Given the description of an element on the screen output the (x, y) to click on. 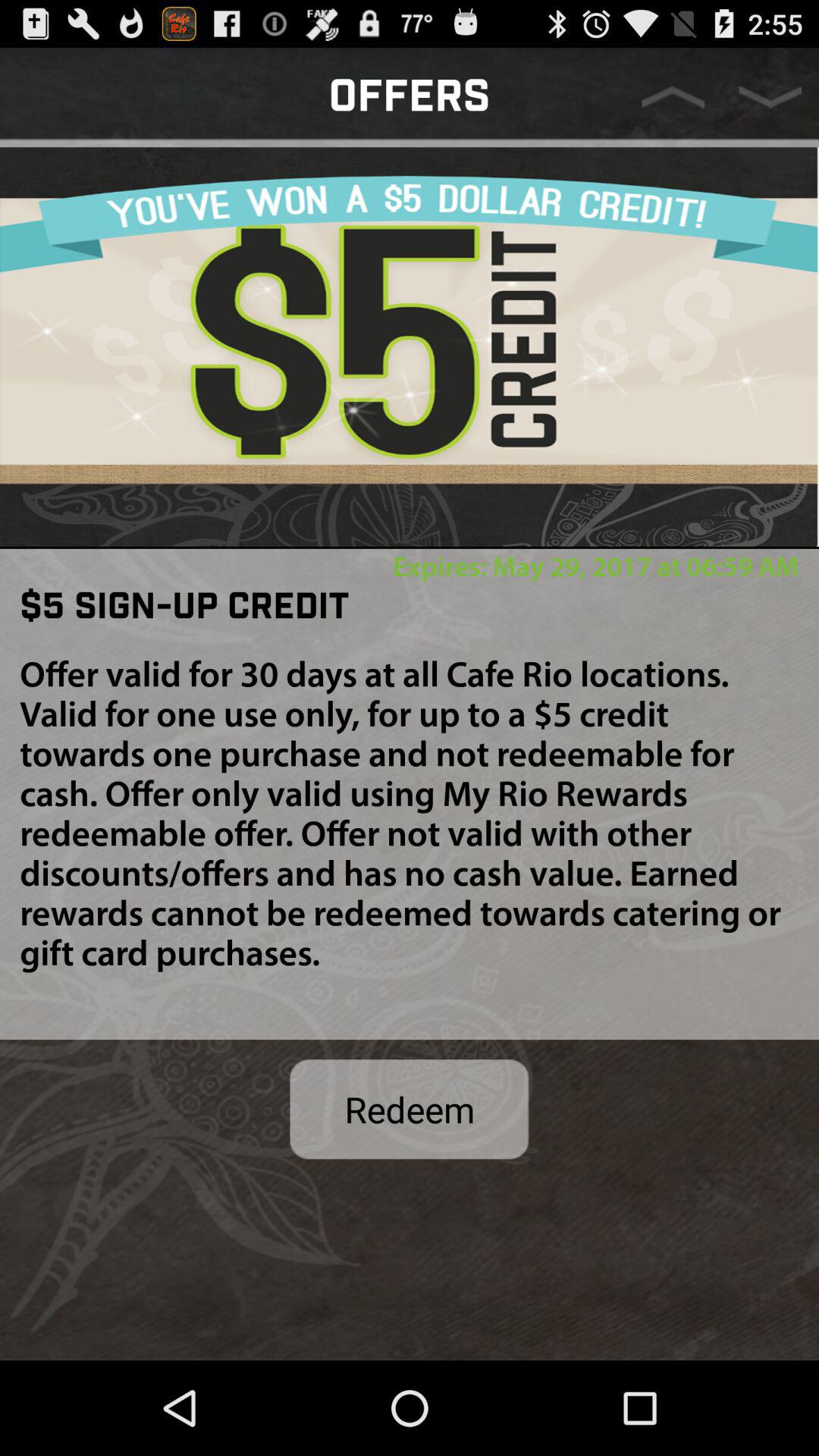
go to the below (770, 96)
